Given the description of an element on the screen output the (x, y) to click on. 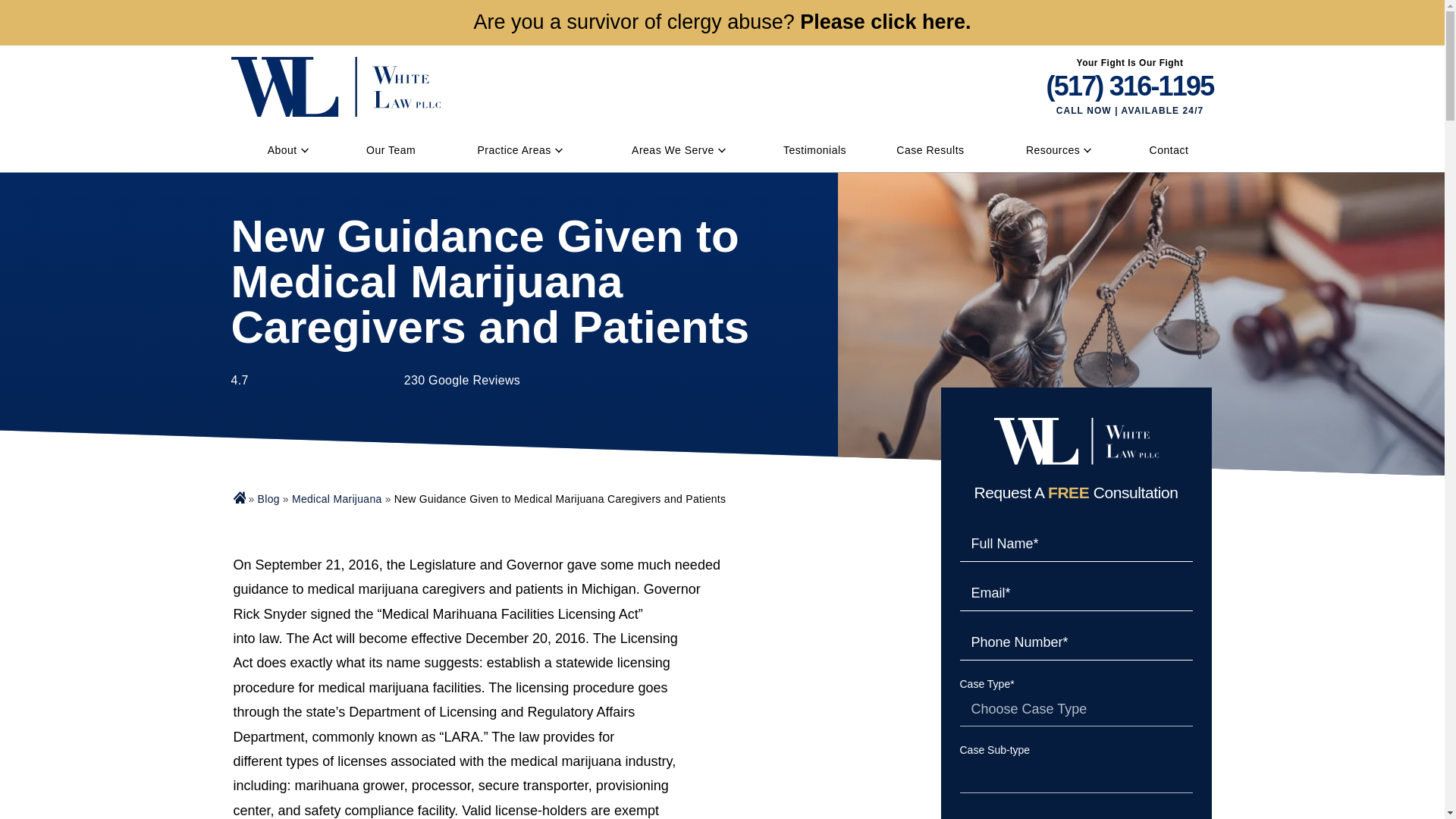
Contact (1169, 149)
Call to White Law - PLLC (1130, 86)
Our Team (390, 149)
Practice Areas (514, 149)
Resources (1053, 149)
White Law - PLLC (334, 86)
White Law - PLLC (1074, 441)
Testimonials (814, 149)
Areas We Serve (672, 149)
